Given the description of an element on the screen output the (x, y) to click on. 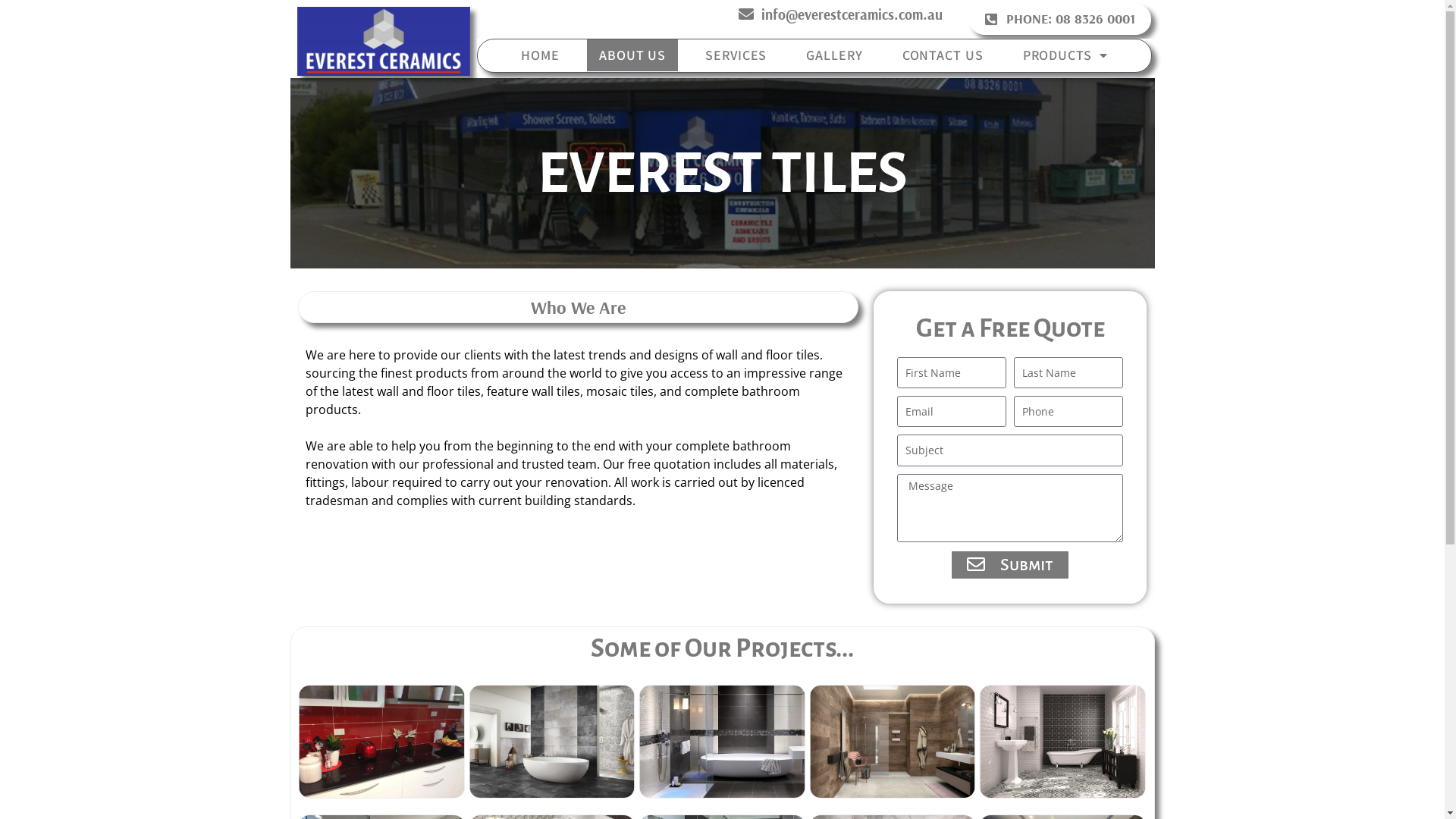
SERVICES Element type: text (735, 55)
PRODUCTS Element type: text (1065, 55)
CONTACT US Element type: text (942, 55)
PHONE: 08 8326 0001 Element type: text (1060, 18)
HOME Element type: text (539, 55)
ABOUT US Element type: text (631, 55)
Submit Element type: text (1010, 564)
GALLERY Element type: text (833, 55)
info@everestceramics.com.au Element type: text (840, 14)
